Given the description of an element on the screen output the (x, y) to click on. 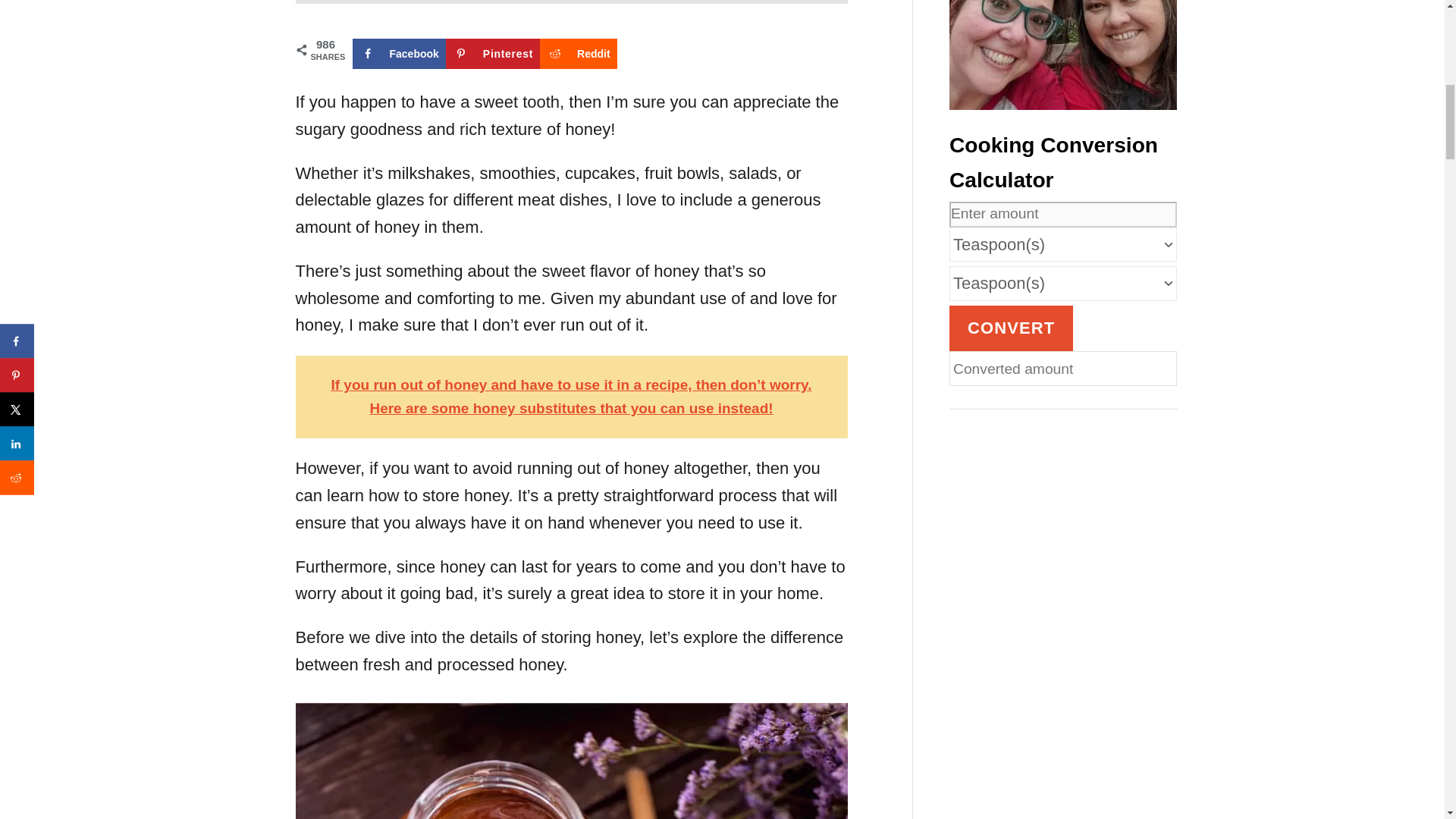
Share on Reddit (578, 53)
Share on Facebook (398, 53)
Save to Pinterest (492, 53)
